Given the description of an element on the screen output the (x, y) to click on. 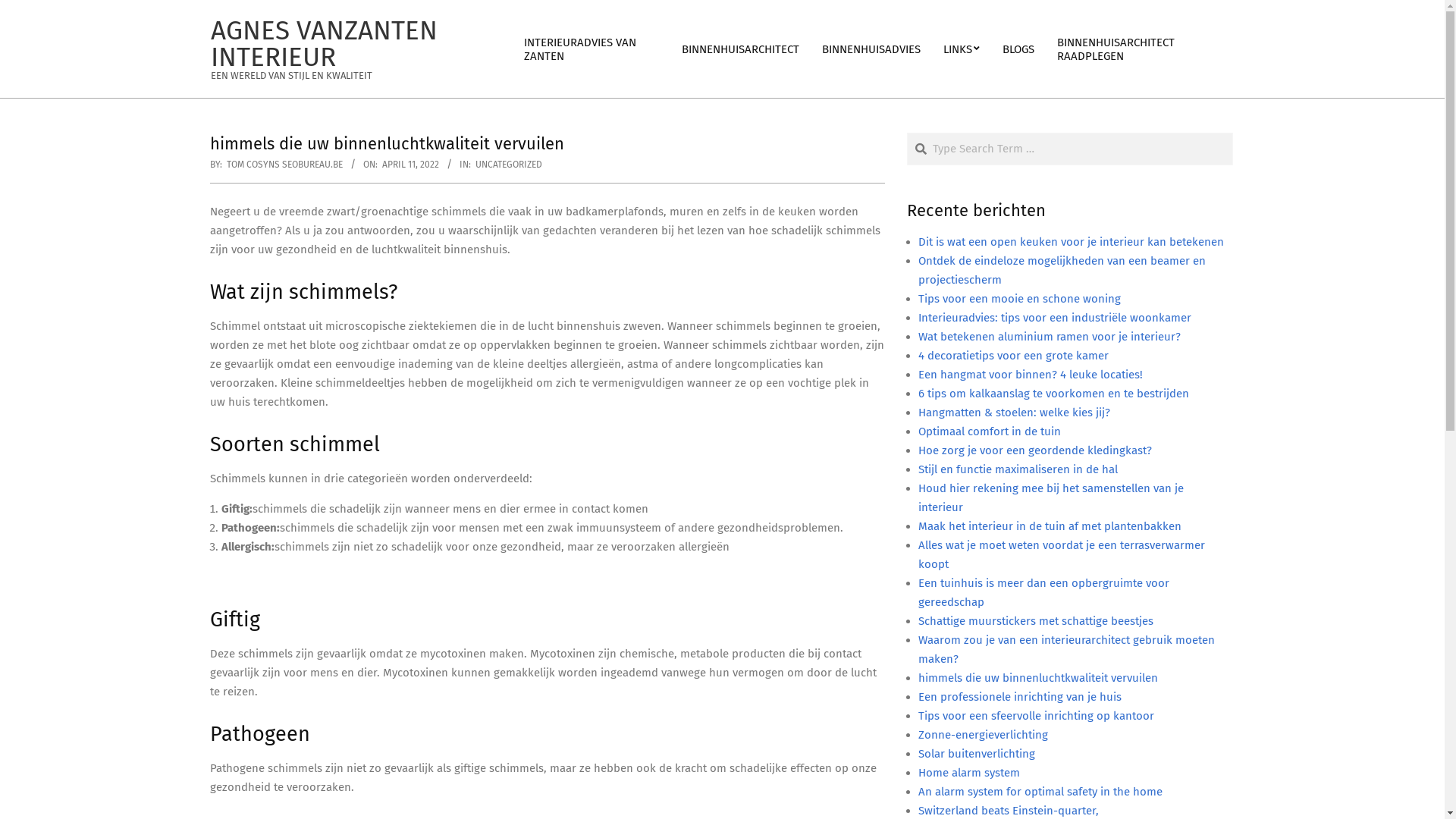
AGNES VANZANTEN INTERIEUR Element type: text (323, 43)
BLOGS Element type: text (1018, 48)
Tips voor een sfeervolle inrichting op kantoor Element type: text (1035, 715)
Stijl en functie maximaliseren in de hal Element type: text (1017, 469)
Een hangmat voor binnen? 4 leuke locaties! Element type: text (1029, 374)
Switzerland beats Einstein-quarter, Element type: text (1007, 810)
Tips voor een mooie en schone woning Element type: text (1018, 298)
Home alarm system Element type: text (968, 772)
Een professionele inrichting van je huis Element type: text (1018, 696)
Zonne-energieverlichting Element type: text (982, 734)
BINNENHUISADVIES Element type: text (870, 48)
himmels die uw binnenluchtkwaliteit vervuilen Element type: text (1037, 677)
BINNENHUISARCHITECT Element type: text (740, 48)
BINNENHUISARCHITECT RAADPLEGEN Element type: text (1139, 48)
An alarm system for optimal safety in the home Element type: text (1039, 791)
Een tuinhuis is meer dan een opbergruimte voor gereedschap Element type: text (1042, 592)
Alles wat je moet weten voordat je een terrasverwarmer koopt Element type: text (1060, 554)
UNCATEGORIZED Element type: text (507, 164)
INTERIEURADVIES VAN ZANTEN Element type: text (591, 48)
Solar buitenverlichting Element type: text (975, 753)
Schattige muurstickers met schattige beestjes Element type: text (1034, 620)
Wat betekenen aluminium ramen voor je interieur? Element type: text (1048, 336)
TOM COSYNS SEOBUREAU.BE Element type: text (283, 164)
4 decoratietips voor een grote kamer Element type: text (1012, 355)
6 tips om kalkaanslag te voorkomen en te bestrijden Element type: text (1052, 393)
LINKS Element type: text (961, 48)
Hoe zorg je voor een geordende kledingkast? Element type: text (1034, 450)
Optimaal comfort in de tuin Element type: text (988, 431)
Dit is wat een open keuken voor je interieur kan betekenen Element type: text (1070, 241)
Maak het interieur in de tuin af met plantenbakken Element type: text (1048, 526)
Hangmatten & stoelen: welke kies jij? Element type: text (1013, 412)
